Given the description of an element on the screen output the (x, y) to click on. 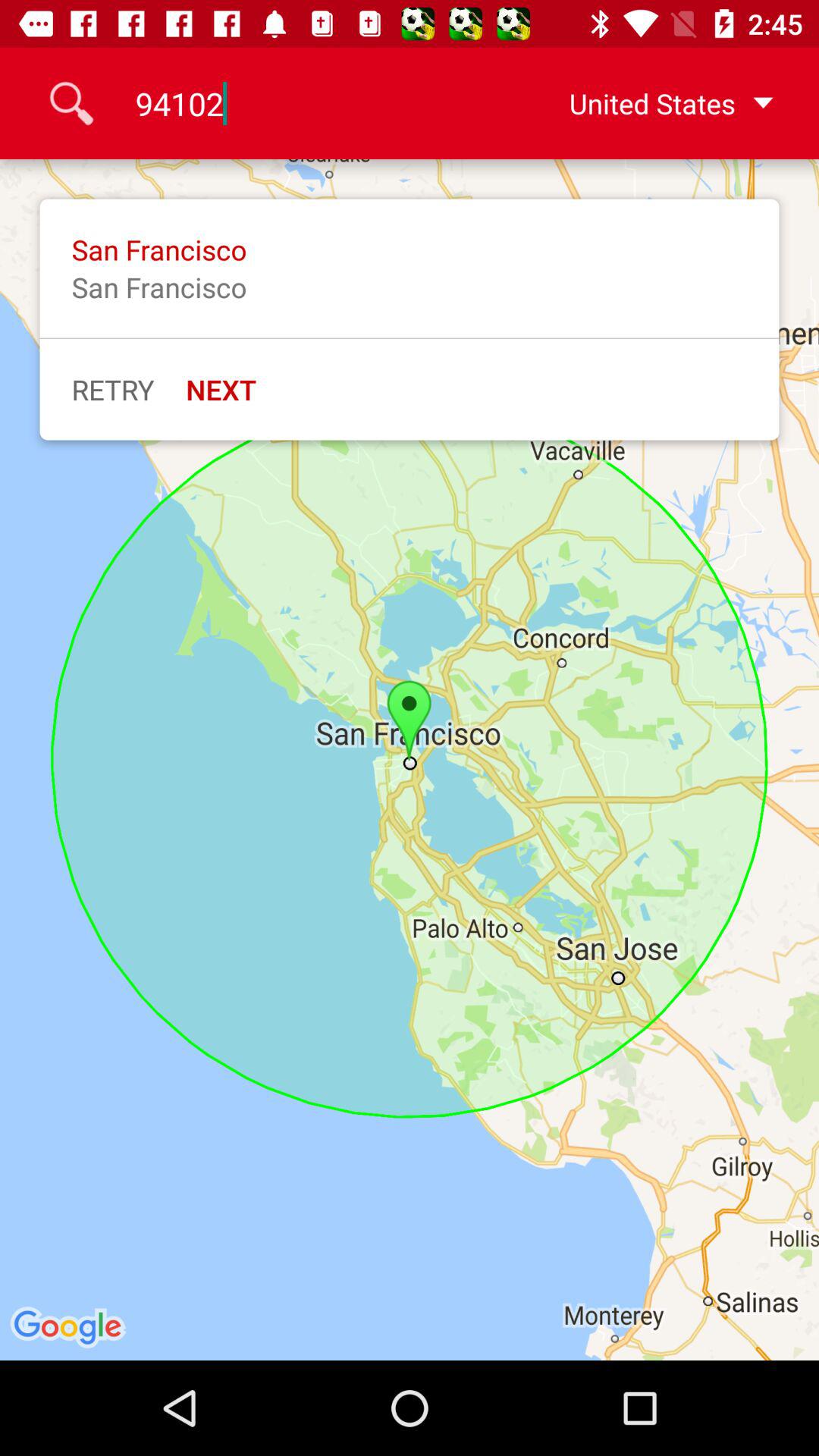
tap the united states item (647, 103)
